Given the description of an element on the screen output the (x, y) to click on. 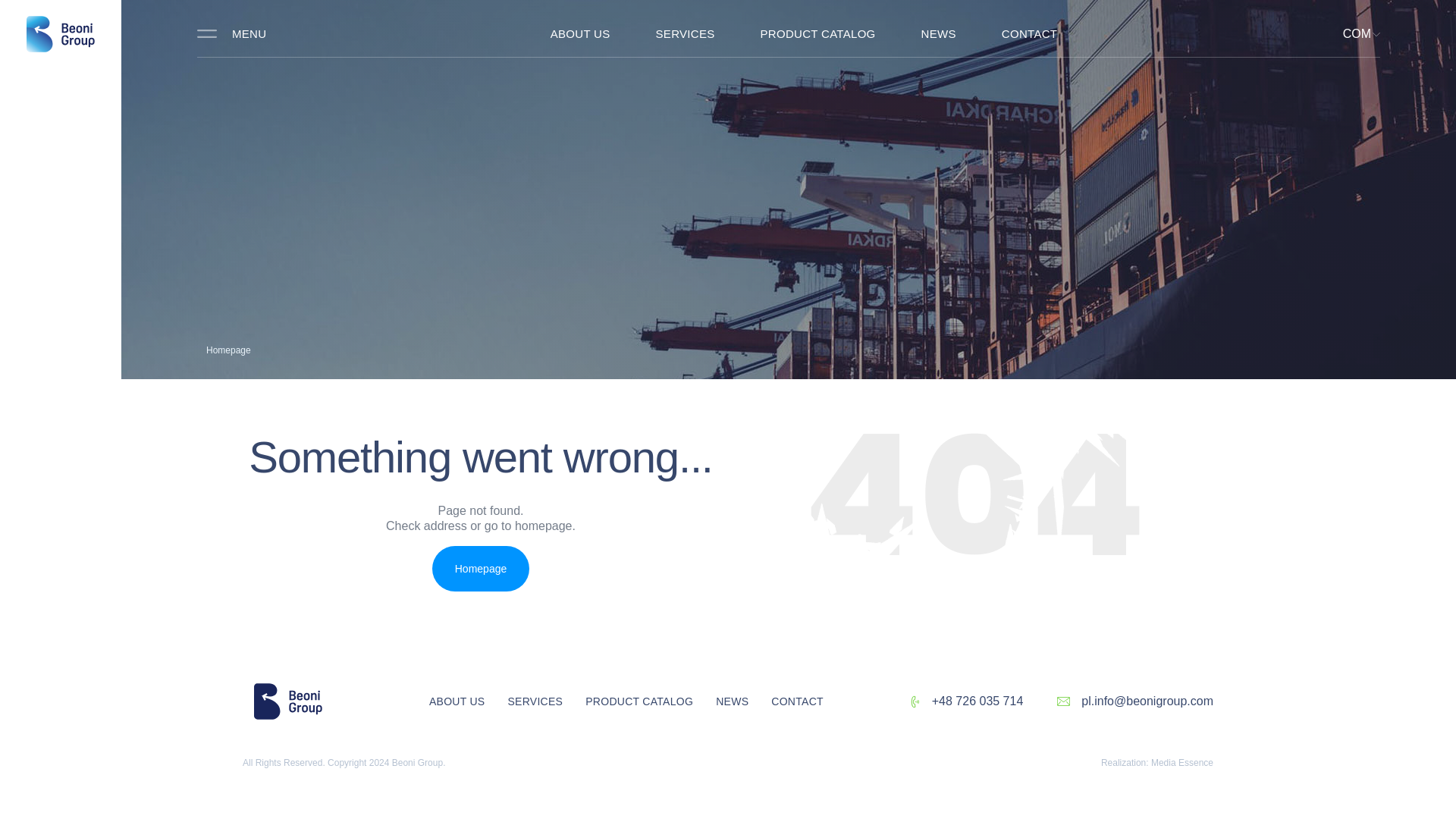
Product catalog (638, 701)
SERVICES (685, 33)
CONTACT (1024, 33)
CONTACT (792, 701)
Beoni Group (288, 701)
PRODUCT CATALOG (818, 33)
NEWS (938, 33)
MENU (231, 33)
SERVICES (534, 701)
PRODUCT CATALOG (638, 701)
Contact (1024, 33)
About us (580, 33)
Homepage (228, 349)
NEWS (732, 701)
About us (456, 701)
